Given the description of an element on the screen output the (x, y) to click on. 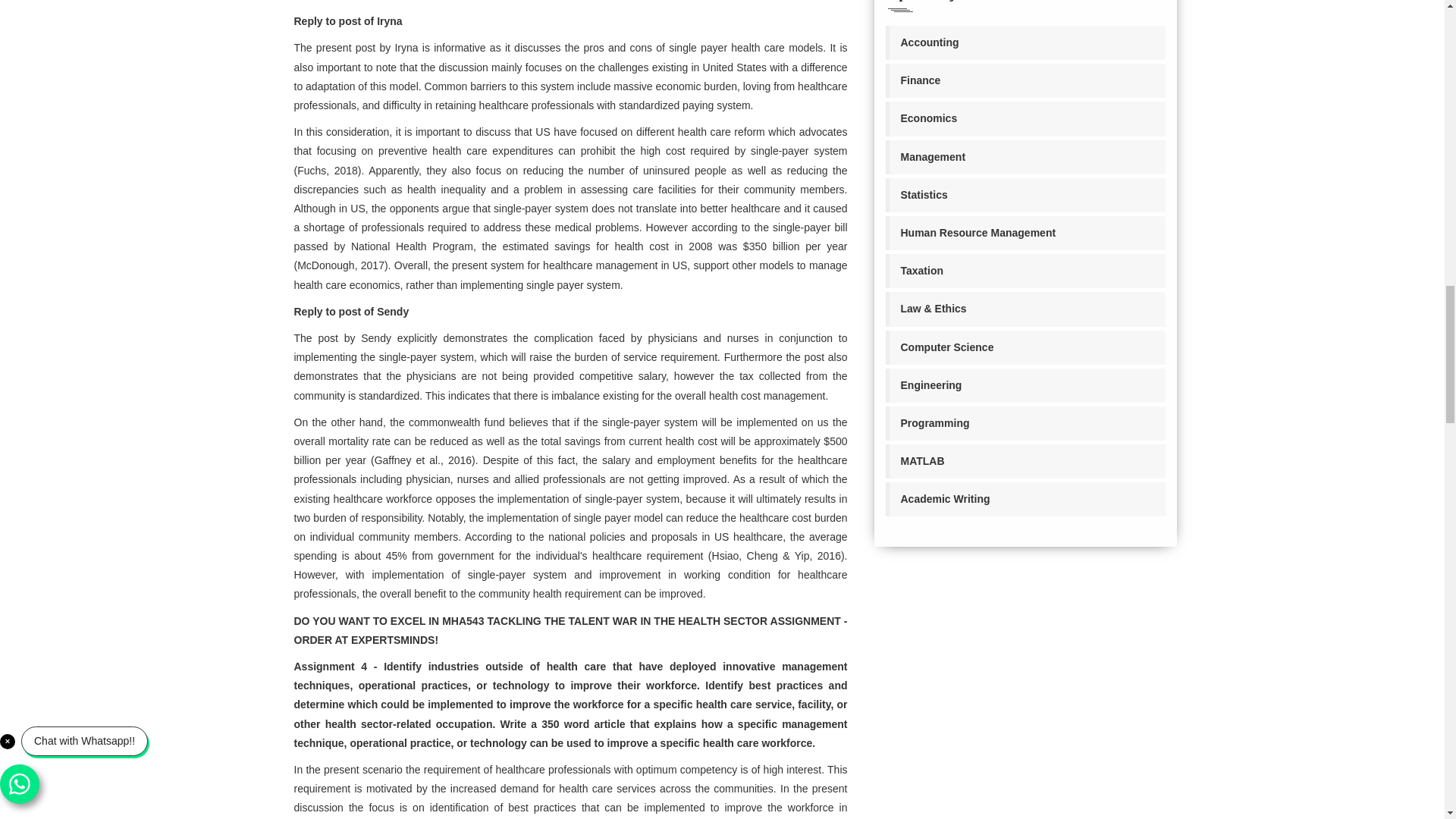
accounting assignment help (1025, 42)
Engineering assignment help (1025, 385)
Statistics assignment help (1025, 195)
Finance assignment help (1025, 80)
Economics assignment help (1025, 118)
taxation assignment help (1025, 270)
Management assignment help (1025, 157)
Computer Science assignment help (1025, 347)
HRM assignment help (1025, 233)
